Given the description of an element on the screen output the (x, y) to click on. 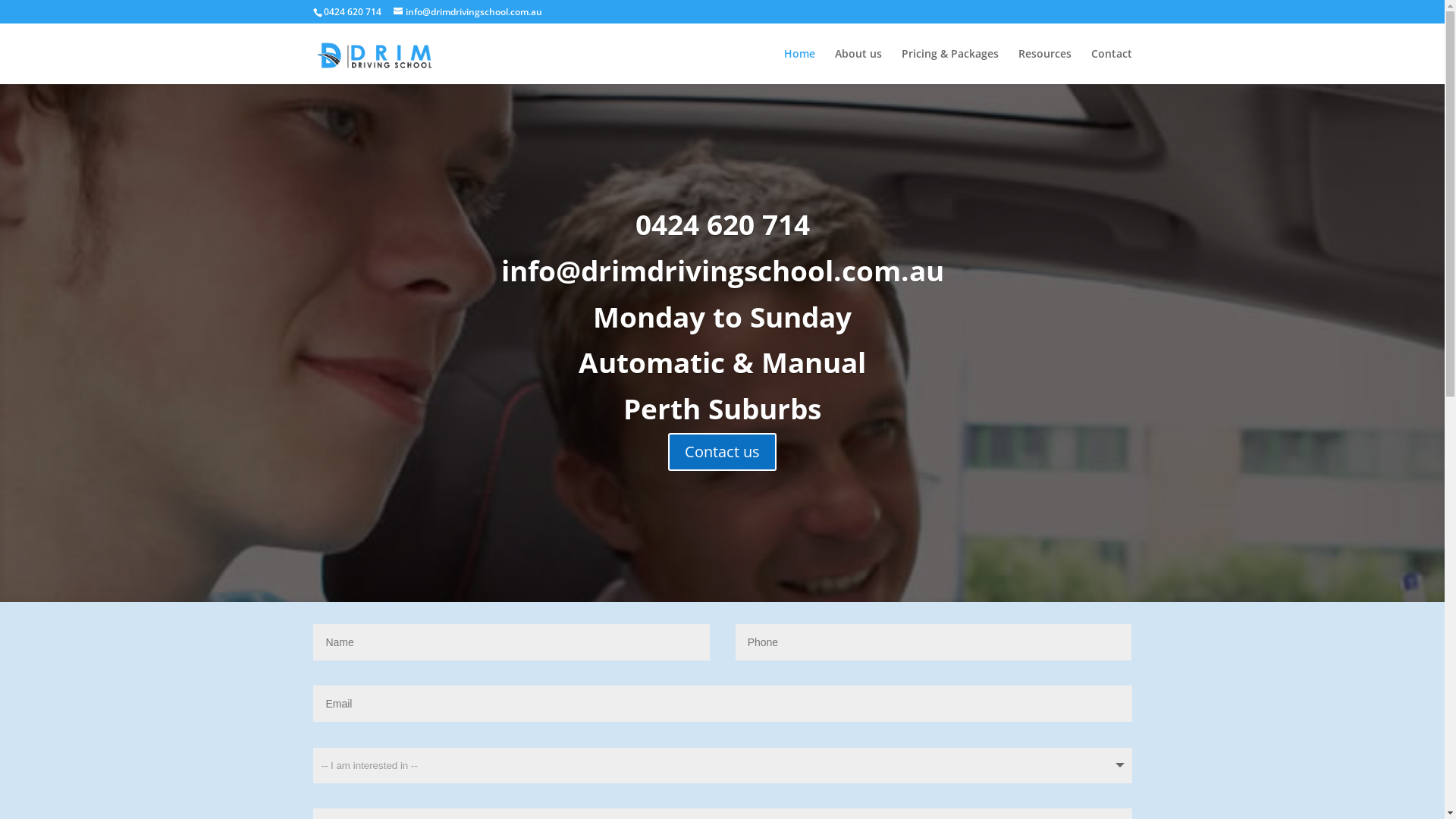
info@drimdrivingschool.com.au Element type: text (466, 11)
About us Element type: text (857, 66)
info@drimdrivingschool.com.au Element type: text (721, 270)
Contact Element type: text (1110, 66)
Resources Element type: text (1043, 66)
Only numbers allowed. Element type: hover (933, 642)
Contact us Element type: text (722, 451)
Pricing & Packages Element type: text (948, 66)
Home Element type: text (799, 66)
0424 620 714 Element type: text (722, 223)
